Given the description of an element on the screen output the (x, y) to click on. 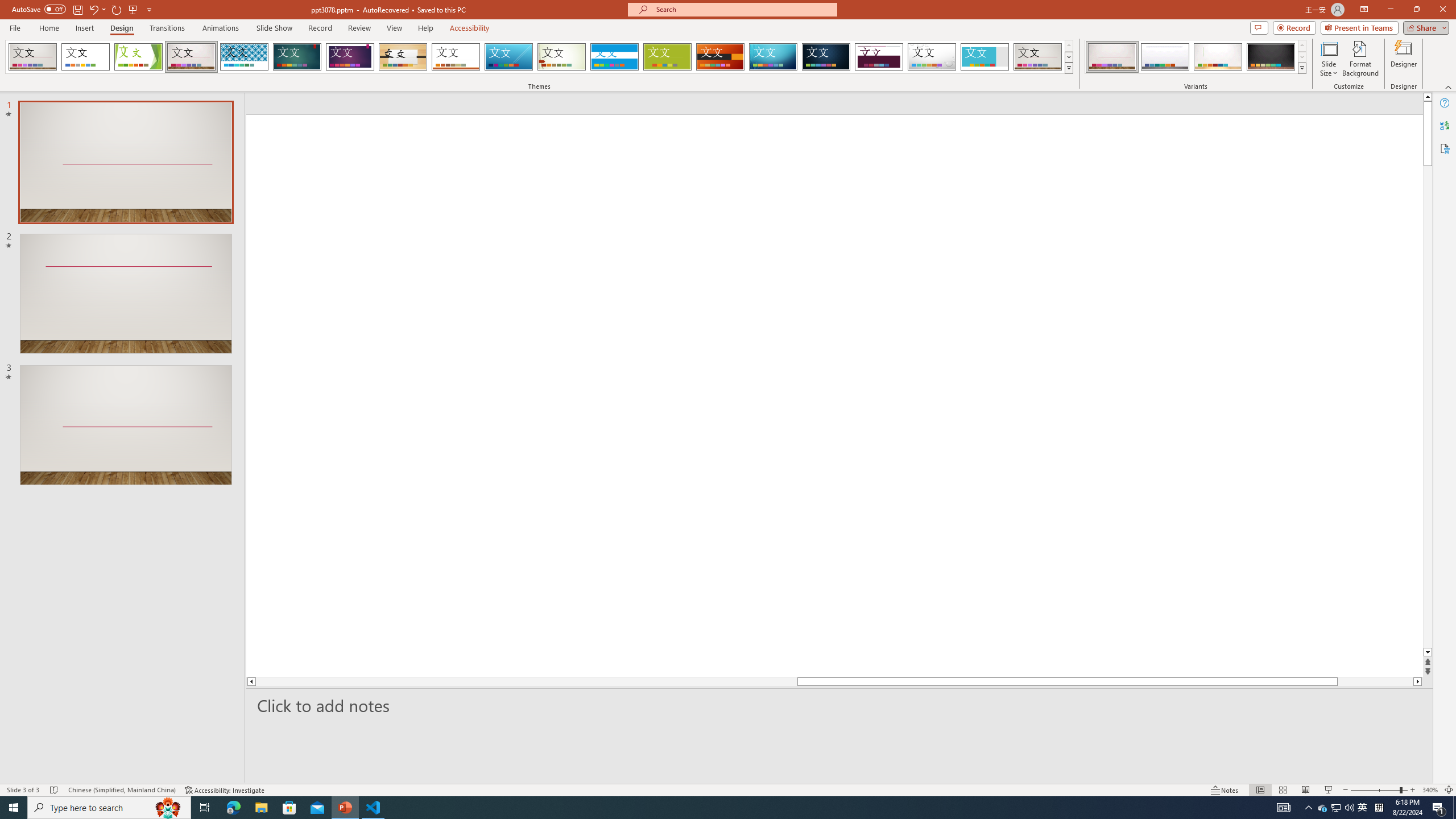
Zoom 340% (1430, 790)
Circuit (772, 56)
Organic (403, 56)
AutomationID: SlideThemesGallery (539, 56)
Banded (614, 56)
